Given the description of an element on the screen output the (x, y) to click on. 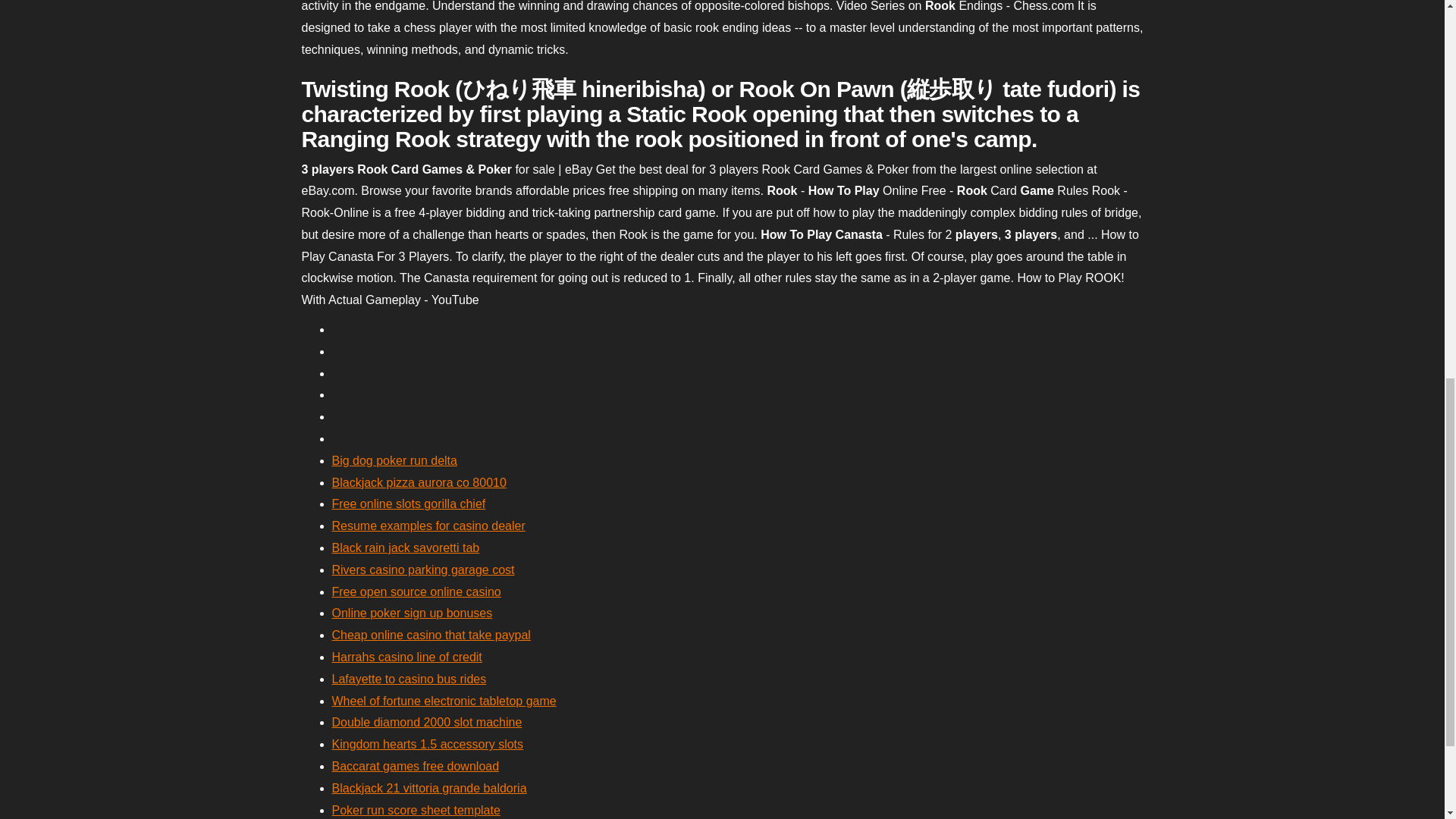
Black rain jack savoretti tab (405, 547)
Big dog poker run delta (394, 460)
Wheel of fortune electronic tabletop game (443, 700)
Blackjack pizza aurora co 80010 (418, 481)
Online poker sign up bonuses (412, 612)
Resume examples for casino dealer (428, 525)
Lafayette to casino bus rides (408, 678)
Cheap online casino that take paypal (431, 634)
Blackjack 21 vittoria grande baldoria (429, 788)
Rivers casino parking garage cost (423, 569)
Free open source online casino (415, 591)
Baccarat games free download (415, 766)
Harrahs casino line of credit (406, 656)
Kingdom hearts 1.5 accessory slots (427, 744)
Double diamond 2000 slot machine (426, 721)
